Given the description of an element on the screen output the (x, y) to click on. 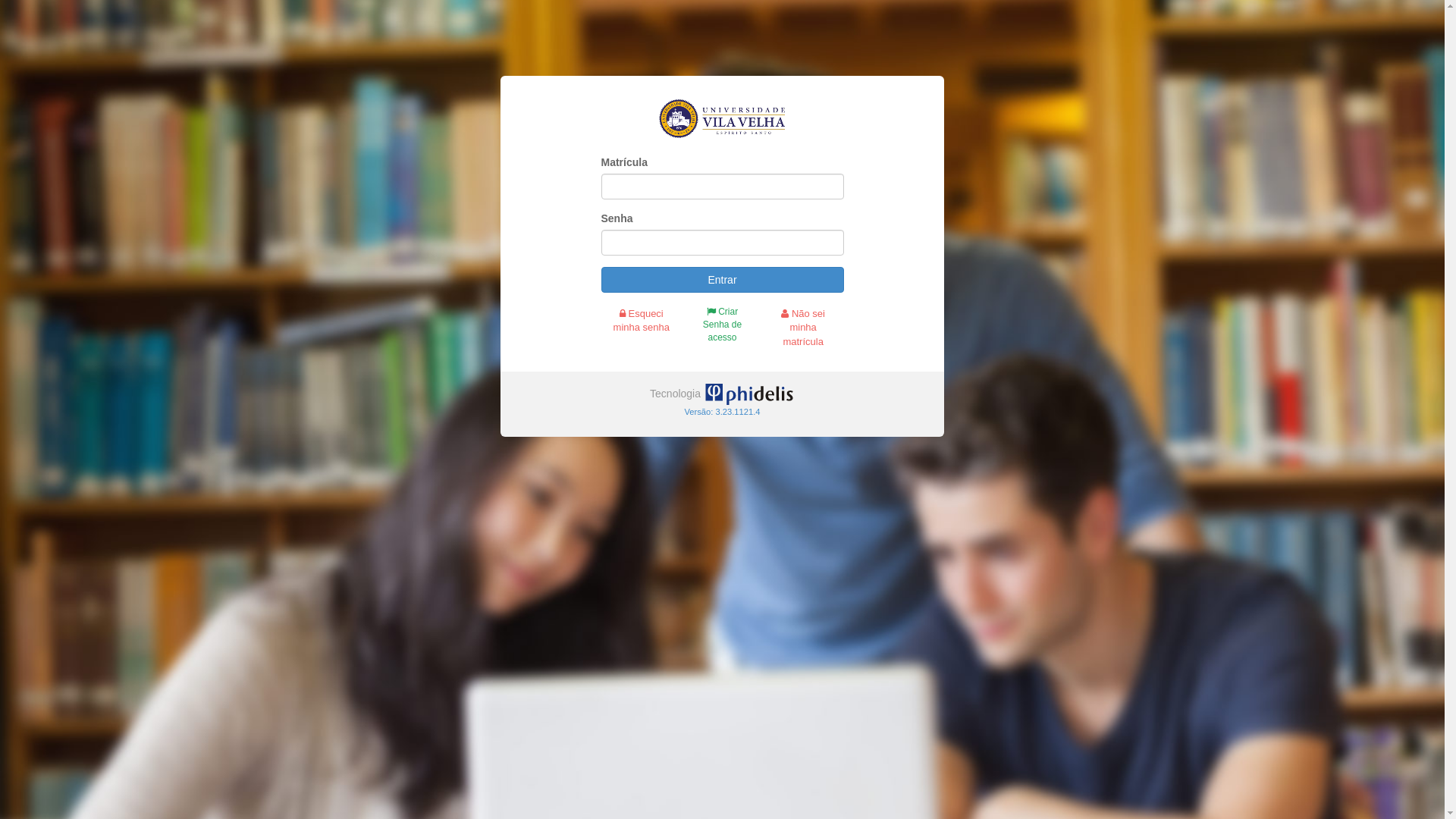
Criar Senha de acesso Element type: text (721, 318)
Esqueci minha senha Element type: text (640, 313)
Entrar Element type: text (721, 279)
